Given the description of an element on the screen output the (x, y) to click on. 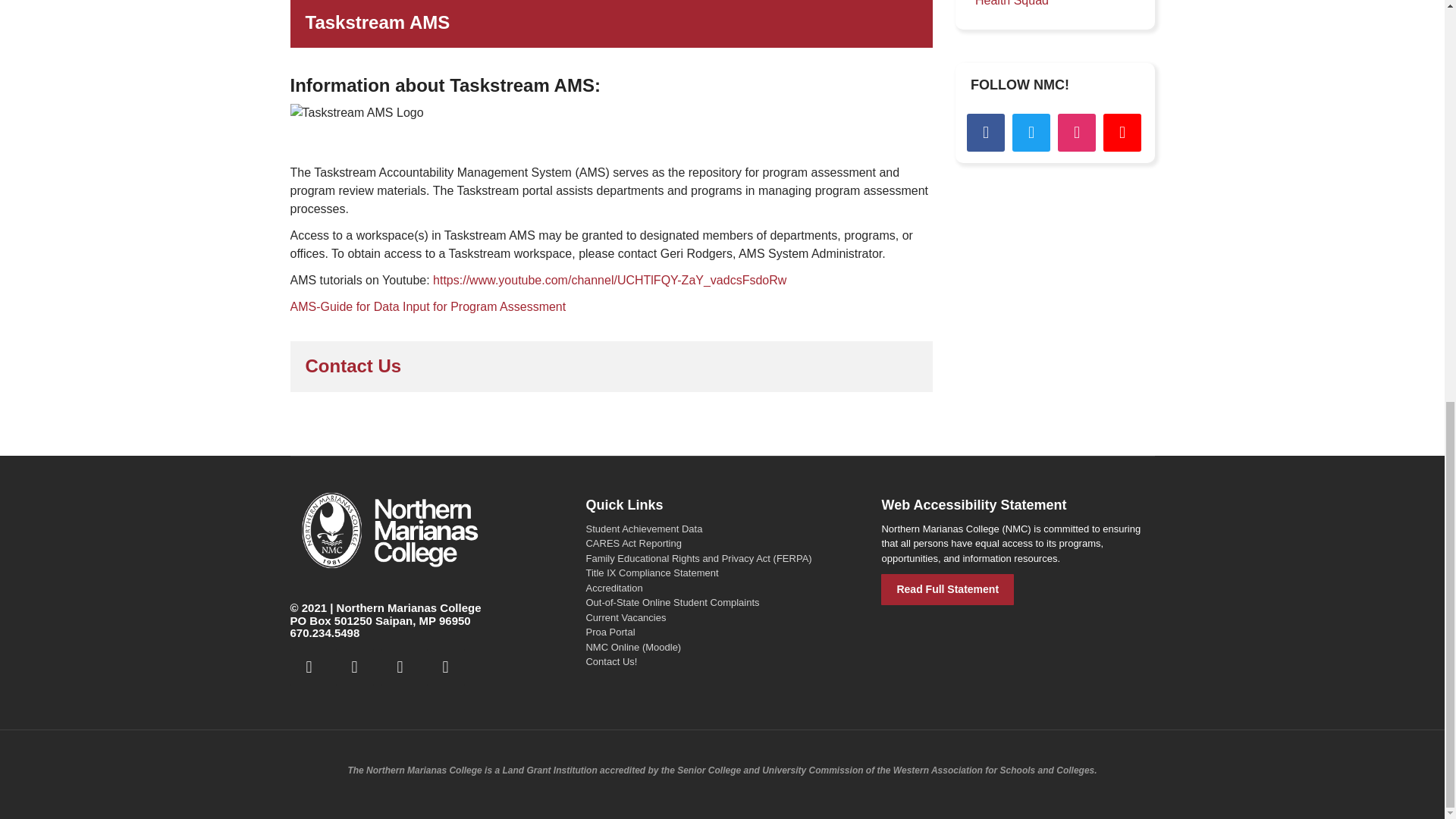
Youtube (1122, 132)
Twitter (353, 667)
Read Full Statement (946, 589)
Facebook (308, 667)
Instagram (1077, 132)
Youtube (445, 667)
Twitter (1030, 132)
Facebook (985, 132)
Instagram (399, 667)
